Given the description of an element on the screen output the (x, y) to click on. 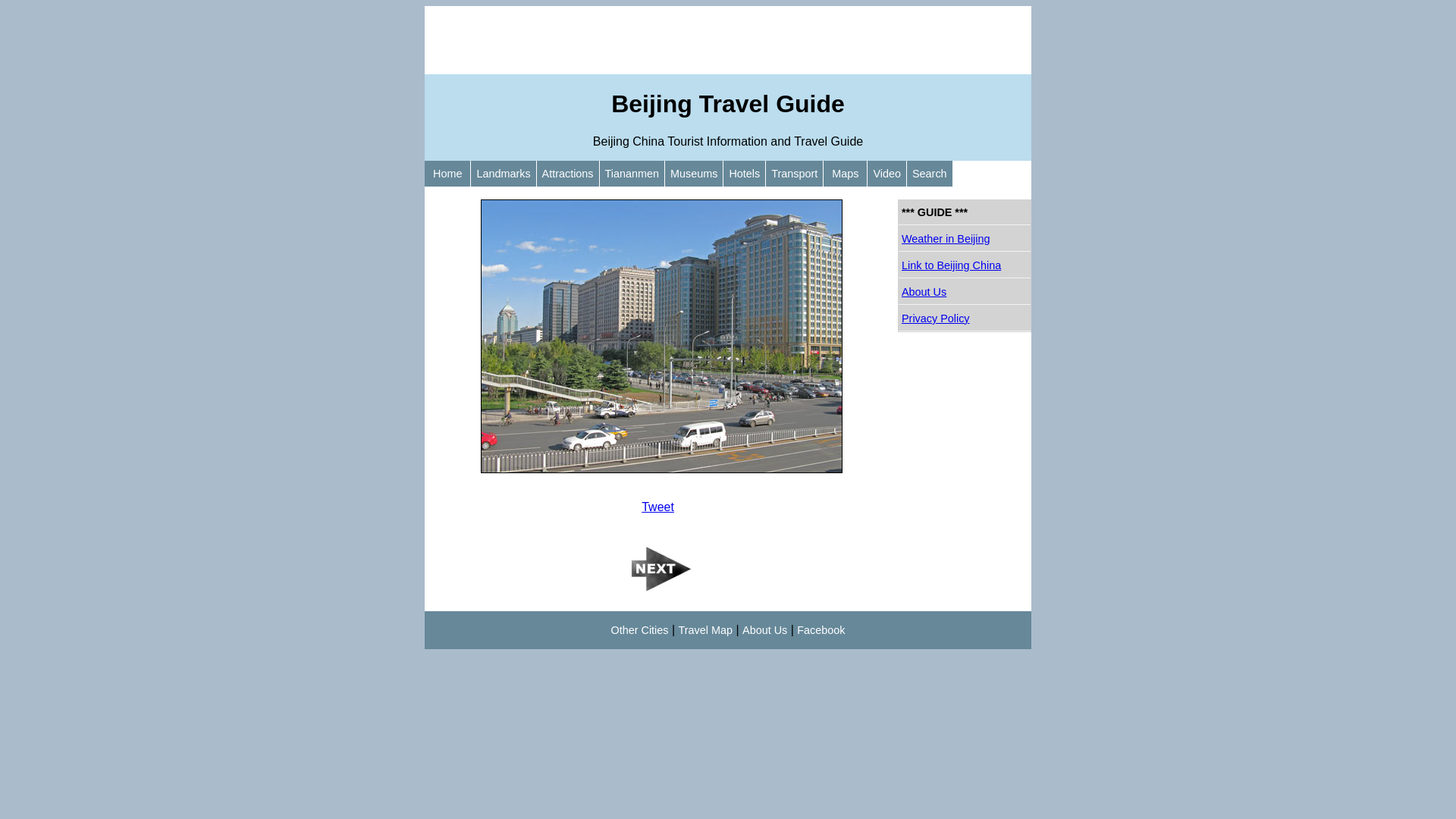
About Us Element type: text (764, 630)
Hotels Element type: text (744, 173)
Tiananmen Element type: text (631, 173)
*** GUIDE *** Element type: text (964, 212)
Weather in Beijing Element type: text (964, 238)
Tweet Element type: text (657, 506)
Transport Element type: text (793, 173)
 Home  Element type: text (447, 173)
Museums Element type: text (693, 173)
 Maps  Element type: text (844, 173)
Other Cities Element type: text (639, 630)
Link to Beijing China Element type: text (964, 265)
Facebook Element type: text (820, 630)
Privacy Policy Element type: text (964, 318)
Landmarks Element type: text (502, 173)
About Us Element type: text (964, 291)
Advertisement Element type: hover (727, 40)
Search Element type: text (929, 173)
Attractions Element type: text (567, 173)
Travel Map Element type: text (705, 630)
Video Element type: text (886, 173)
